Given the description of an element on the screen output the (x, y) to click on. 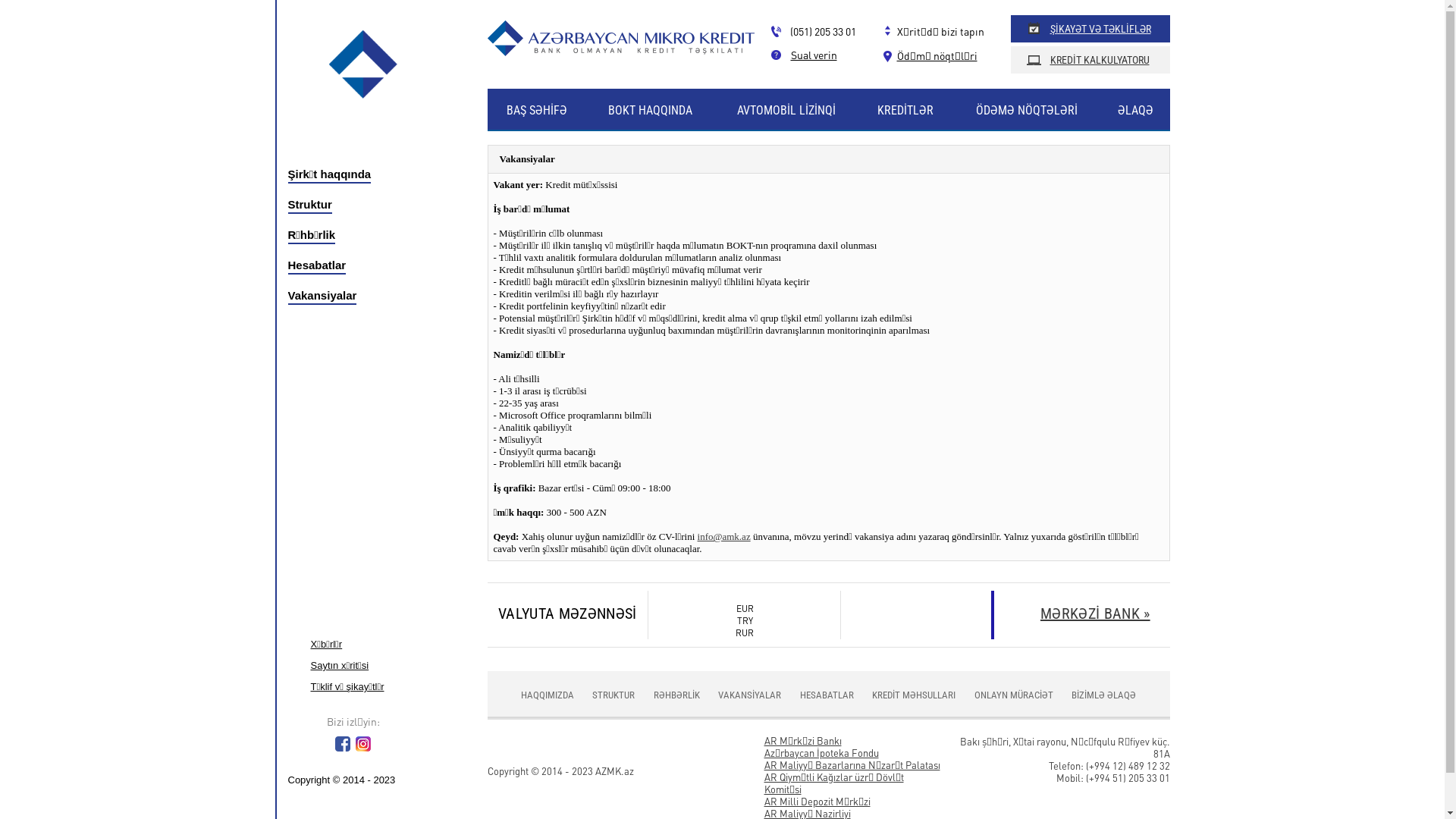
Struktur Element type: text (359, 204)
Instagram Element type: hover (362, 746)
info@amk.az Element type: text (723, 536)
STRUKTUR Element type: text (613, 694)
HESABATLAR Element type: text (826, 694)
Sual verin Element type: text (804, 55)
(051) 205 33 01 Element type: text (812, 30)
HAQQIMIZDA Element type: text (547, 694)
Vakansiyalar Element type: text (359, 295)
Hesabatlar Element type: text (359, 265)
Facebook Element type: hover (341, 746)
BOKT HAQQINDA Element type: text (649, 110)
